Given the description of an element on the screen output the (x, y) to click on. 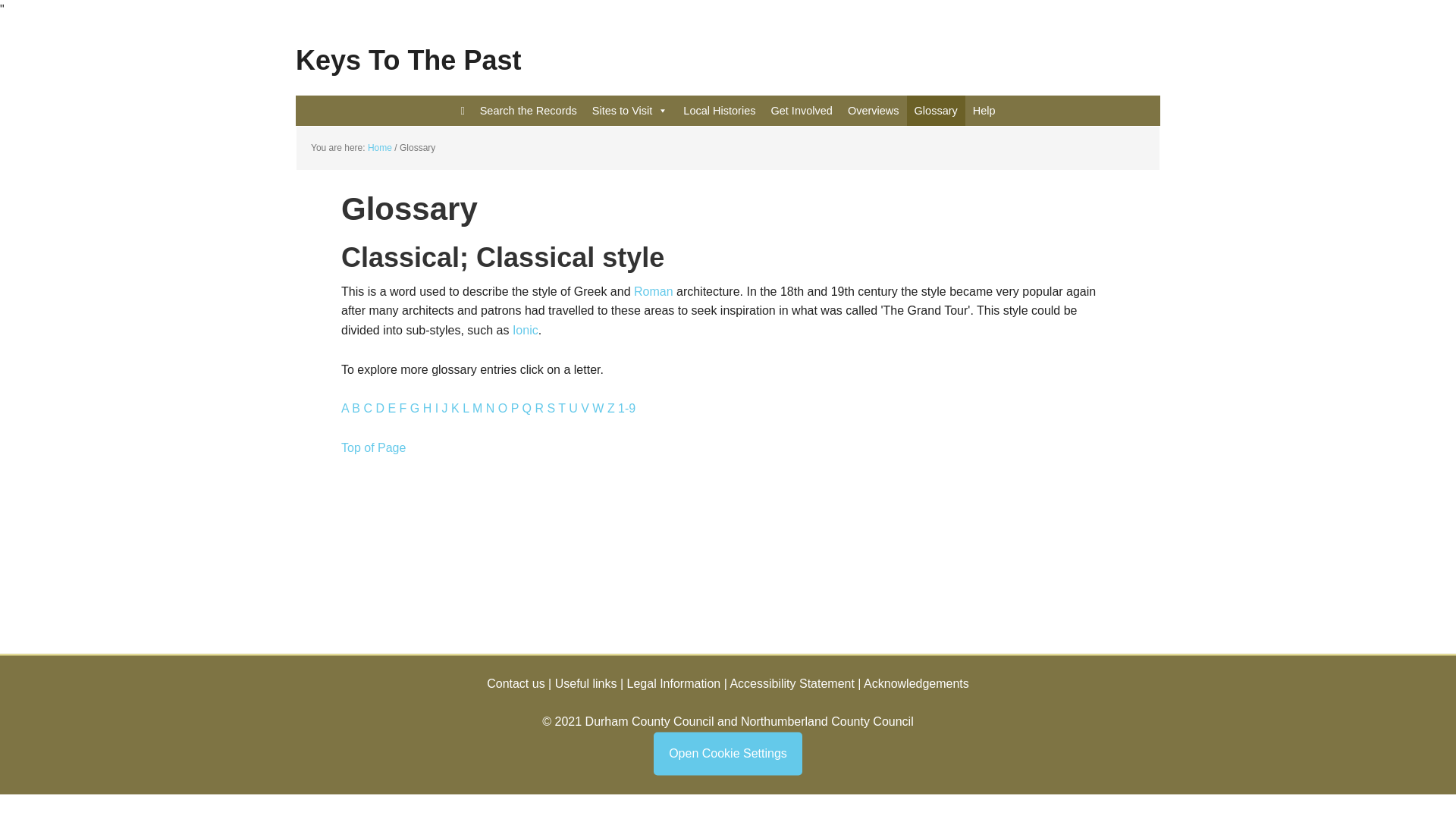
Glossary (936, 110)
Home (379, 147)
Roman (652, 291)
Get Involved (801, 110)
Search the Records (528, 110)
Ionic (525, 329)
Keys To The Past (727, 49)
Overviews (873, 110)
Sites to Visit (631, 110)
Help (984, 110)
Local Histories (718, 110)
